Given the description of an element on the screen output the (x, y) to click on. 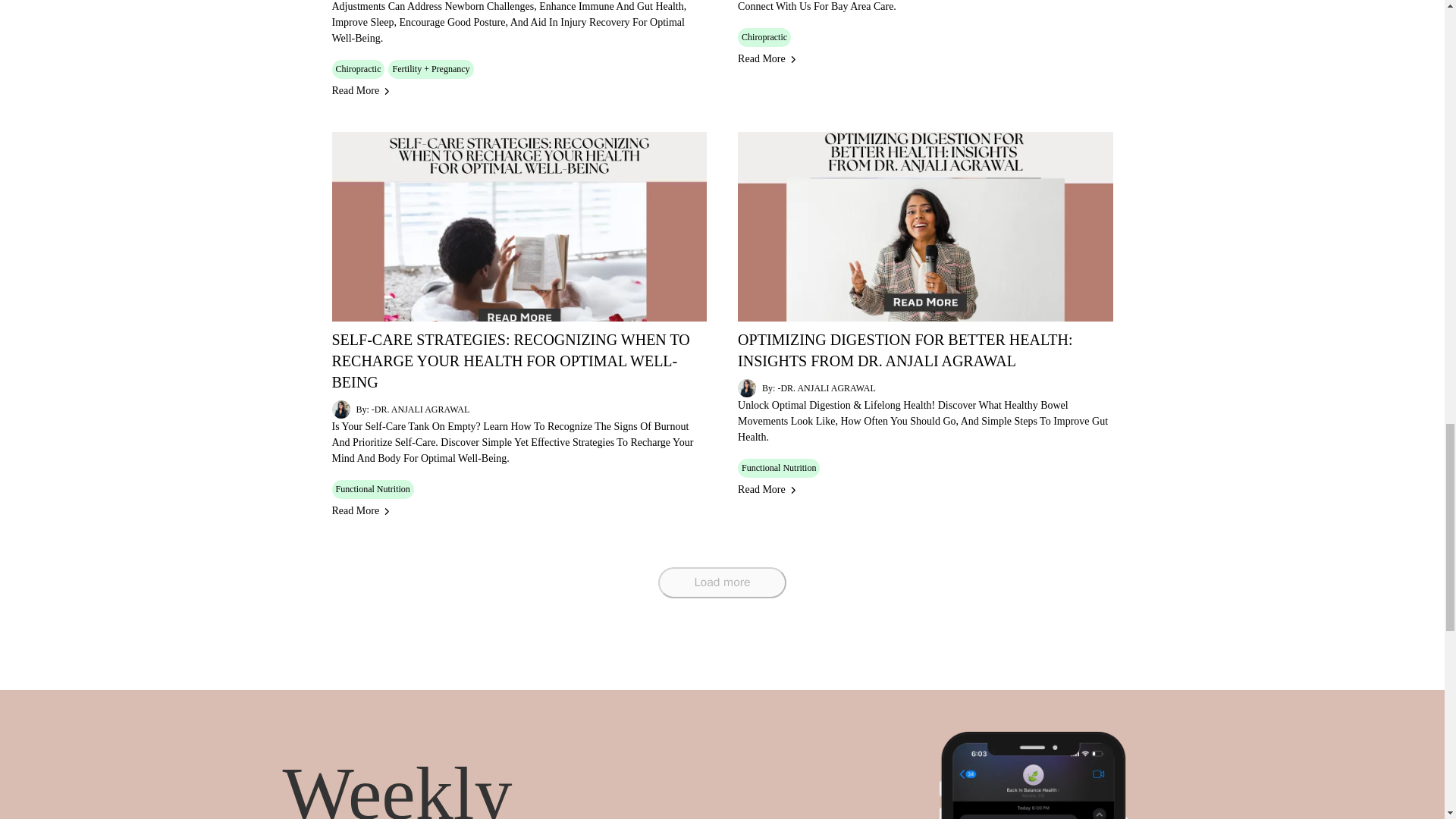
Read More (361, 91)
Load more (722, 582)
Read More (767, 490)
Read More (361, 510)
Read More (767, 59)
